Given the description of an element on the screen output the (x, y) to click on. 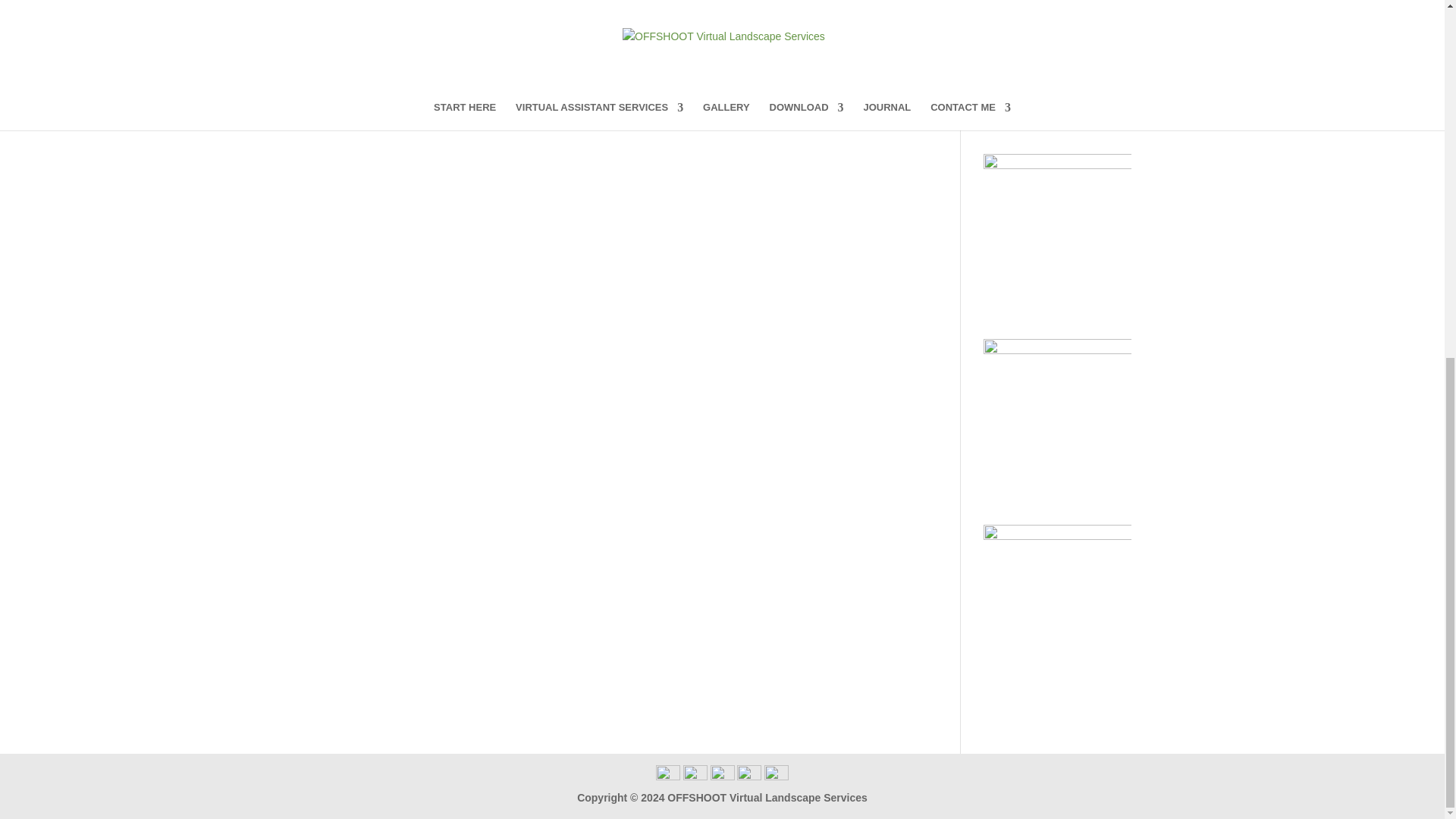
package (733, 37)
